Given the description of an element on the screen output the (x, y) to click on. 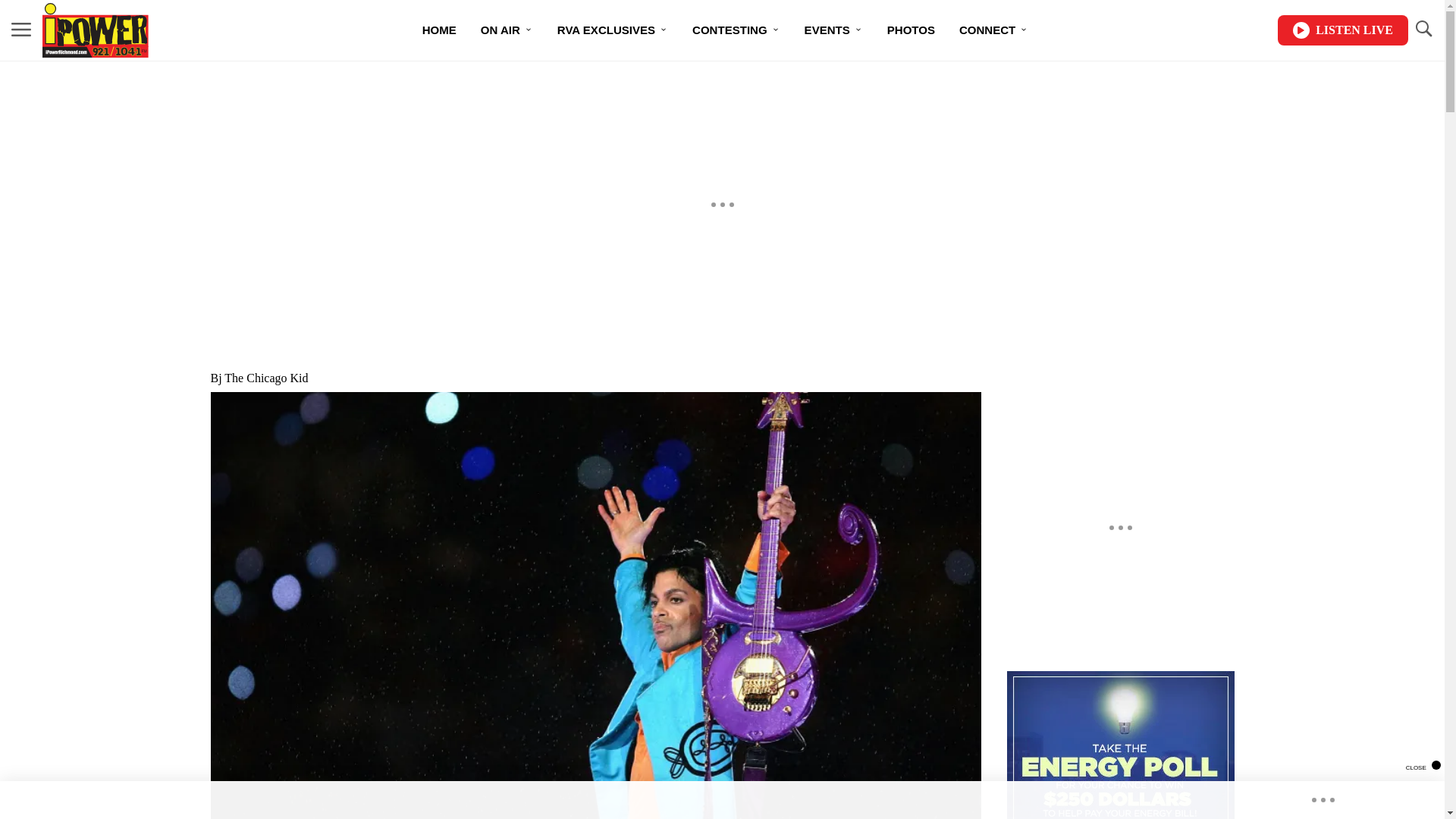
MENU (20, 30)
PHOTOS (911, 30)
TOGGLE SEARCH (1422, 28)
CONNECT (994, 30)
EVENTS (833, 30)
MENU (20, 29)
HOME (439, 30)
RVA EXCLUSIVES (611, 30)
LISTEN LIVE (1342, 30)
TOGGLE SEARCH (1422, 30)
